Given the description of an element on the screen output the (x, y) to click on. 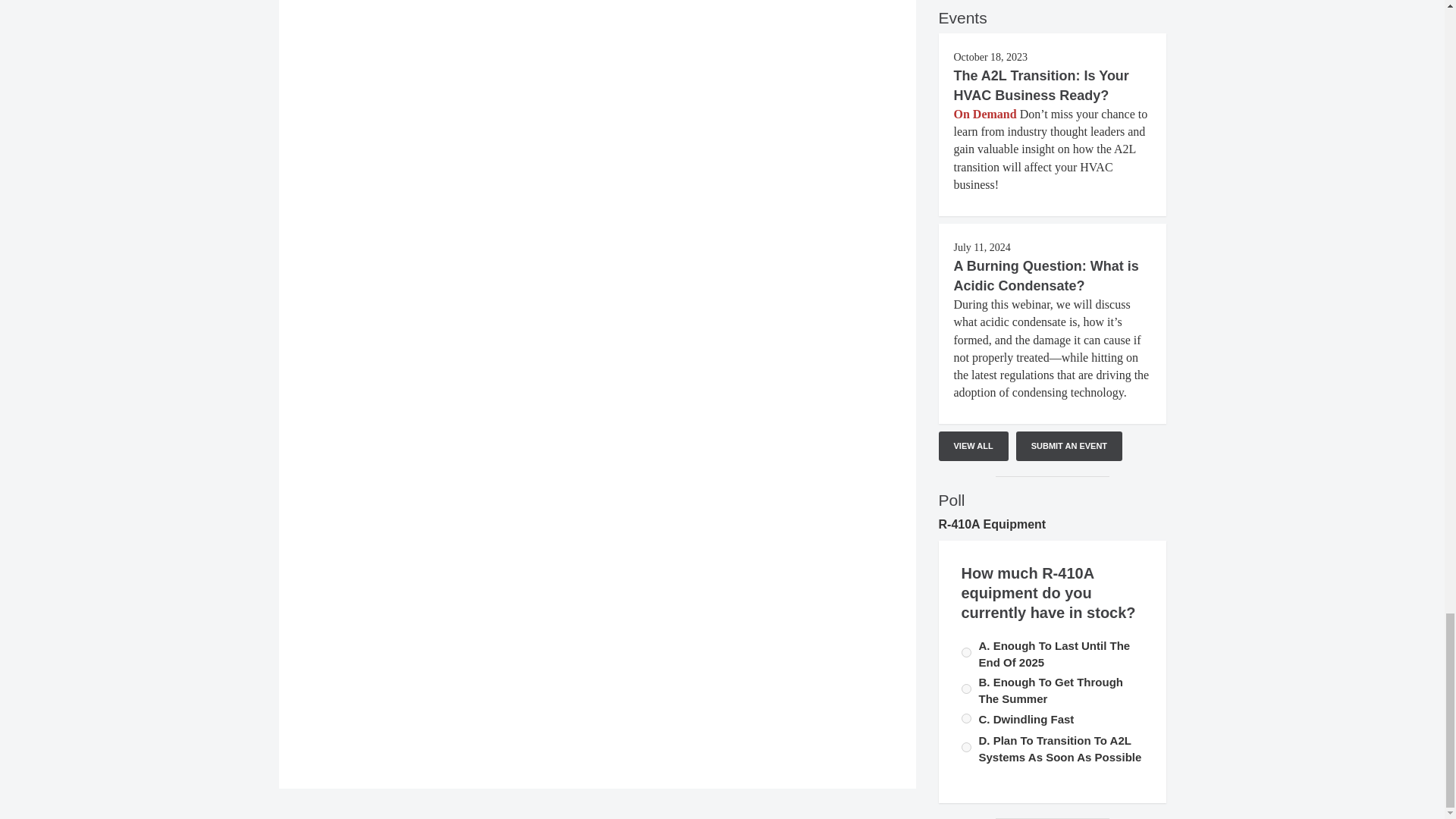
597 (965, 652)
598 (965, 718)
599 (965, 747)
596 (965, 688)
